Given the description of an element on the screen output the (x, y) to click on. 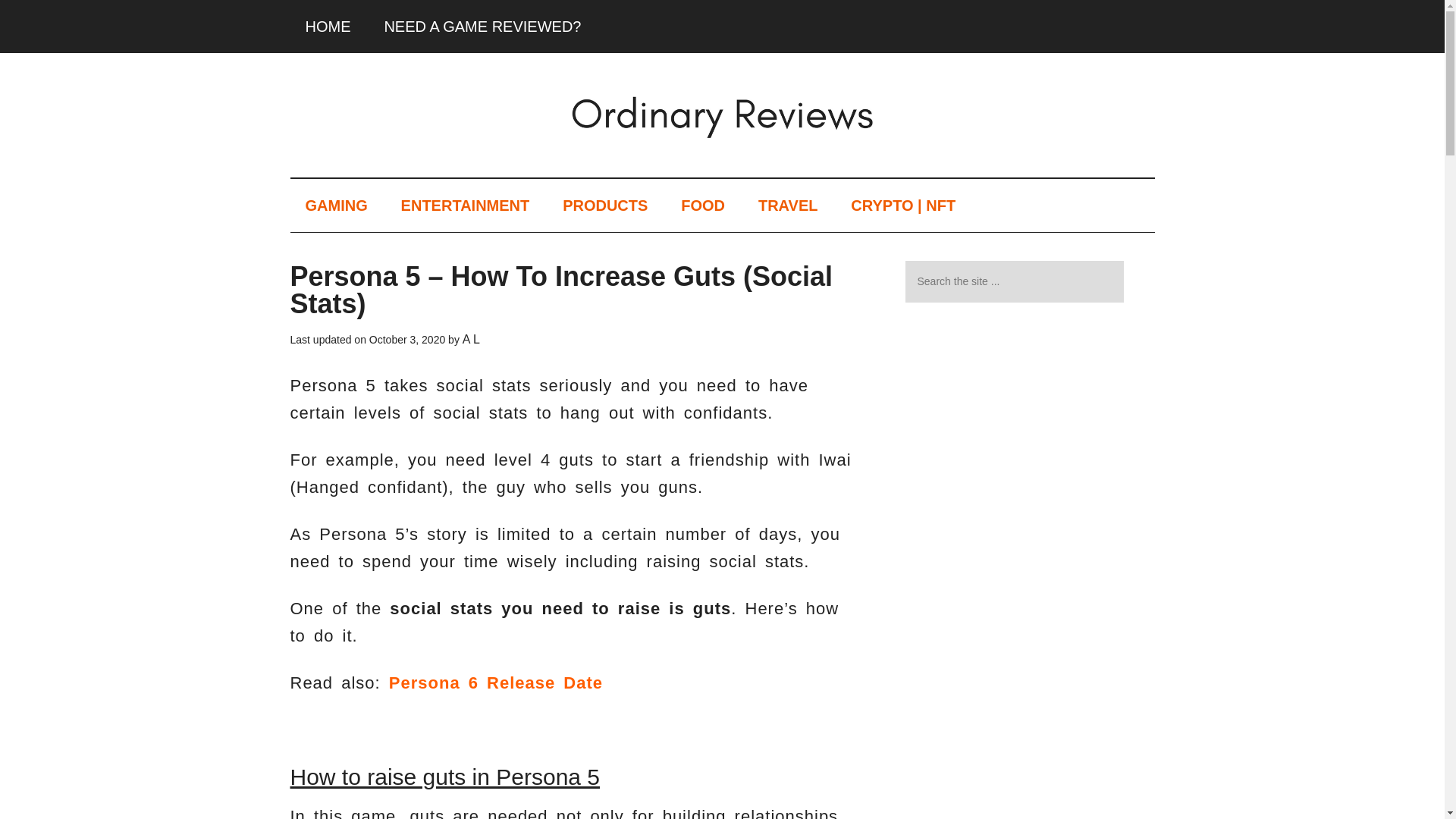
Ordinary Reviews (721, 112)
PRODUCTS (604, 205)
GAMING (335, 205)
HOME (327, 26)
Persona 6 Release Date (495, 682)
NEED A GAME REVIEWED? (481, 26)
TRAVEL (787, 205)
ENTERTAINMENT (464, 205)
